Given the description of an element on the screen output the (x, y) to click on. 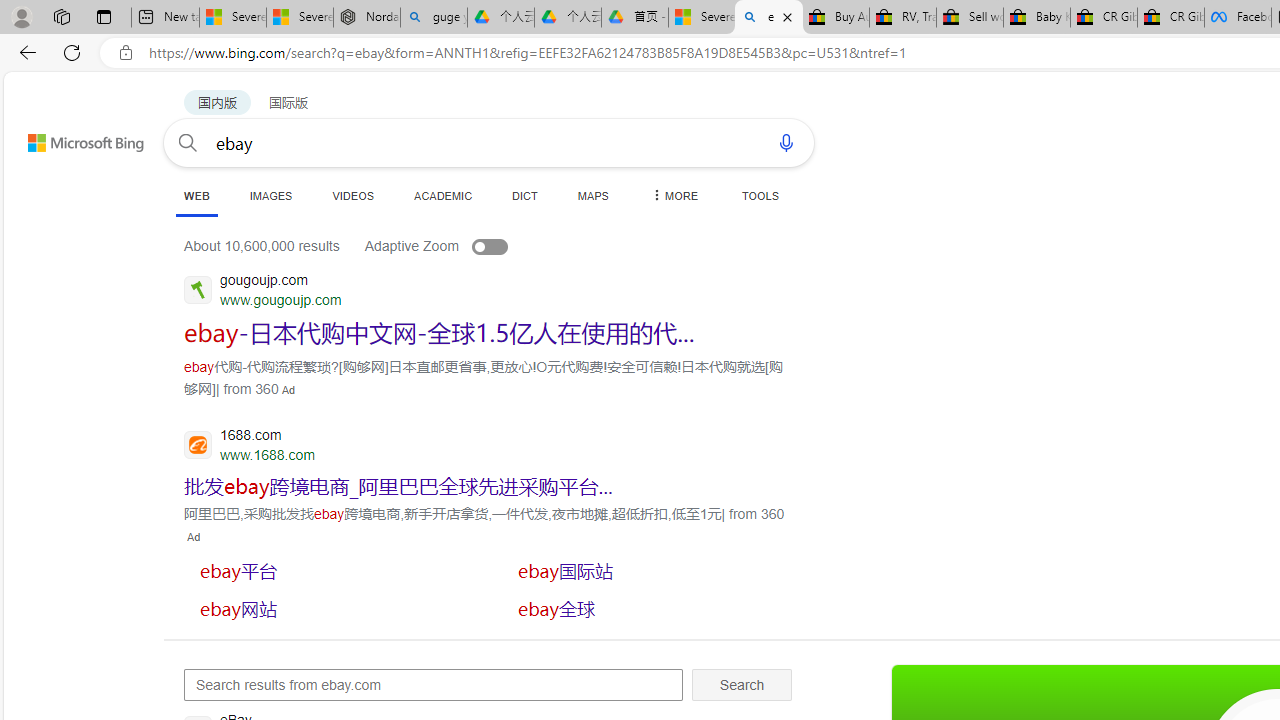
TOOLS (760, 195)
MAPS (592, 195)
MORE (673, 195)
SERP,5712 (333, 570)
Search using voice (785, 142)
